Given the description of an element on the screen output the (x, y) to click on. 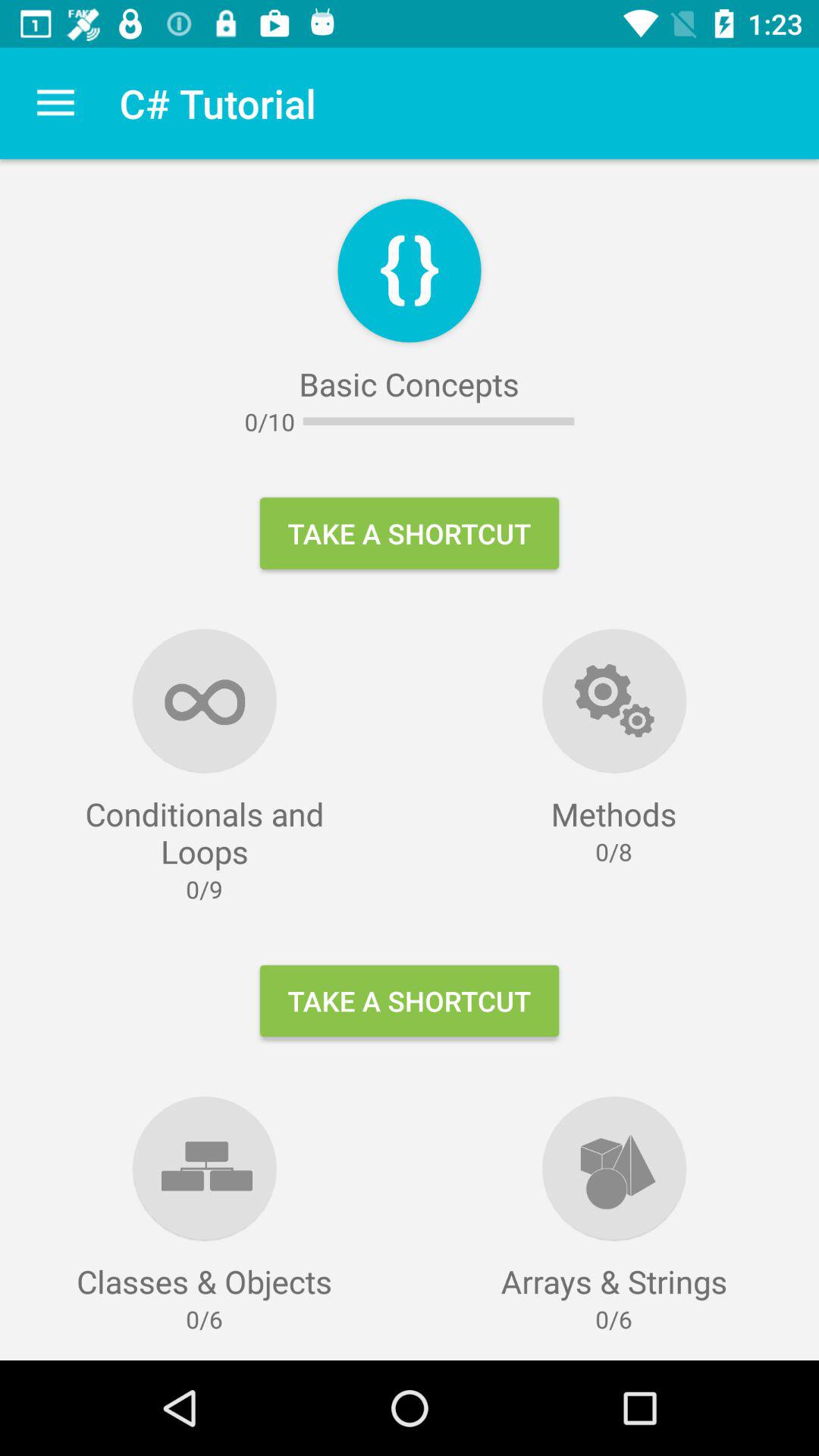
turn on the item to the left of c# tutorial icon (55, 103)
